Given the description of an element on the screen output the (x, y) to click on. 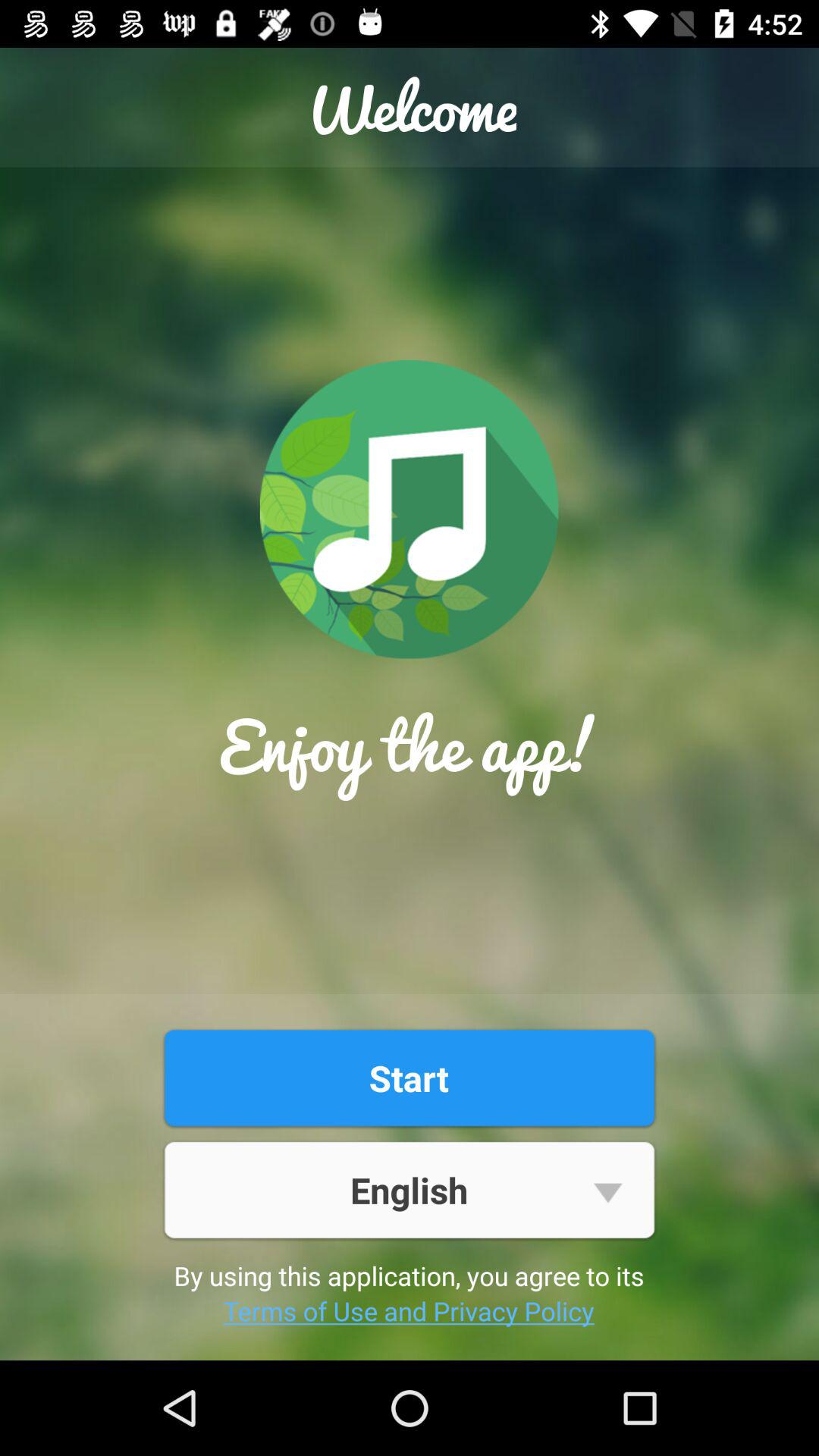
scroll until start button (409, 1078)
